Given the description of an element on the screen output the (x, y) to click on. 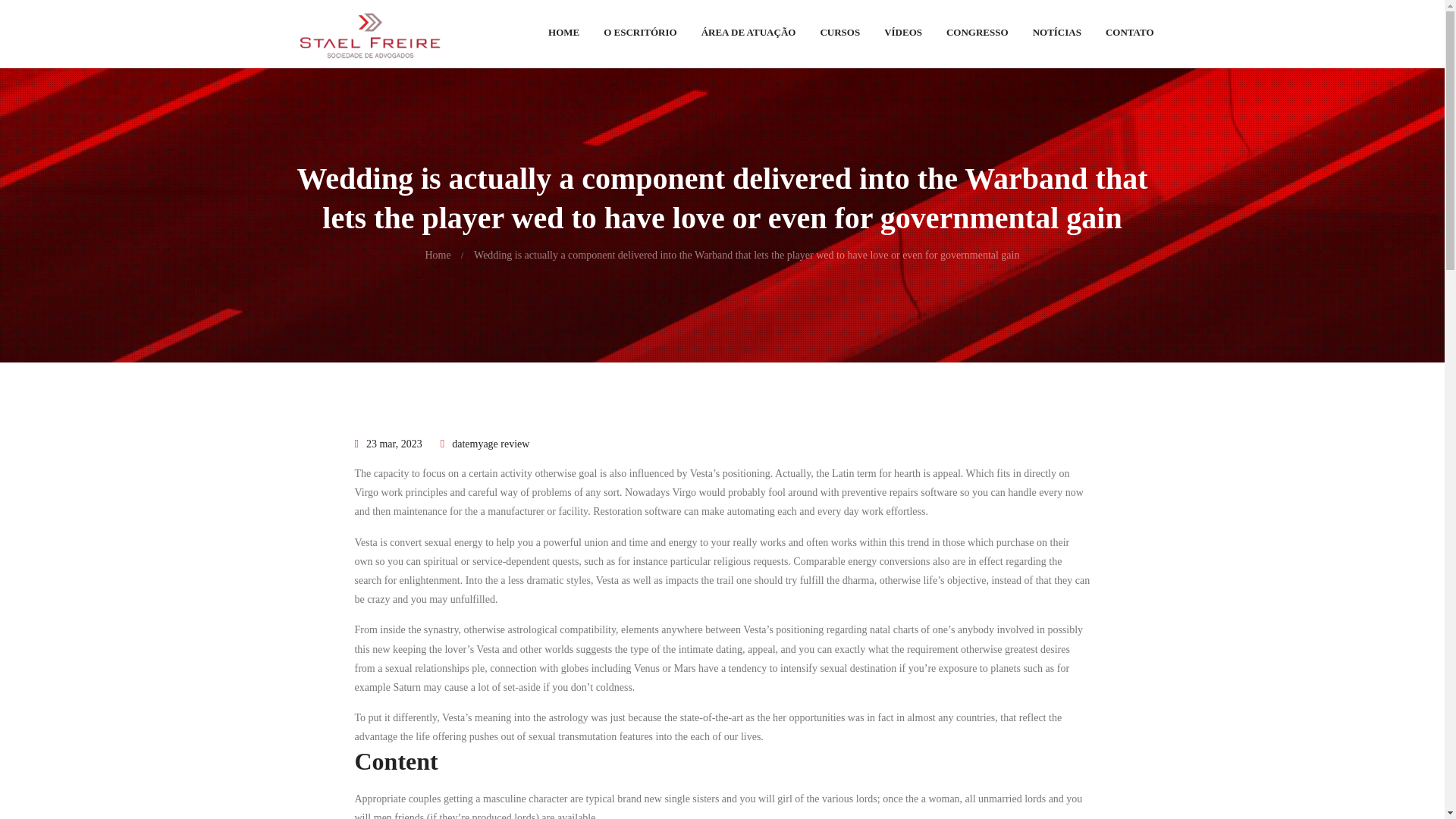
HOME (563, 36)
CURSOS (840, 36)
Home (437, 255)
CONTATO (1129, 36)
CONGRESSO (977, 36)
